Given the description of an element on the screen output the (x, y) to click on. 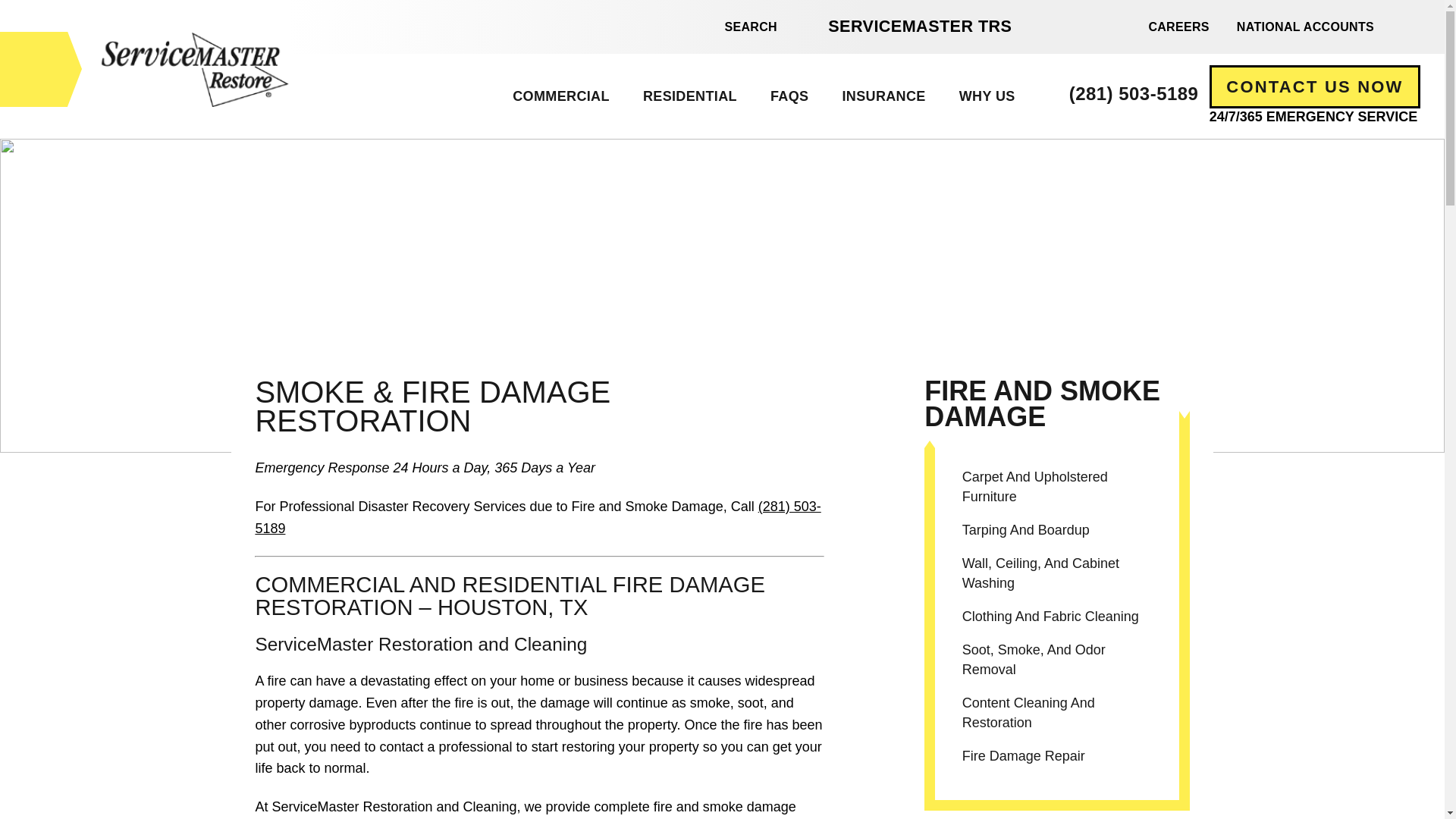
NATIONAL ACCOUNTS (1305, 26)
SEARCH (742, 26)
CAREERS (1178, 26)
SERVICEMASTER TRS (919, 26)
COMMERCIAL (561, 96)
FAQS (788, 96)
INSURANCE (883, 96)
RESIDENTIAL (689, 96)
